Given the description of an element on the screen output the (x, y) to click on. 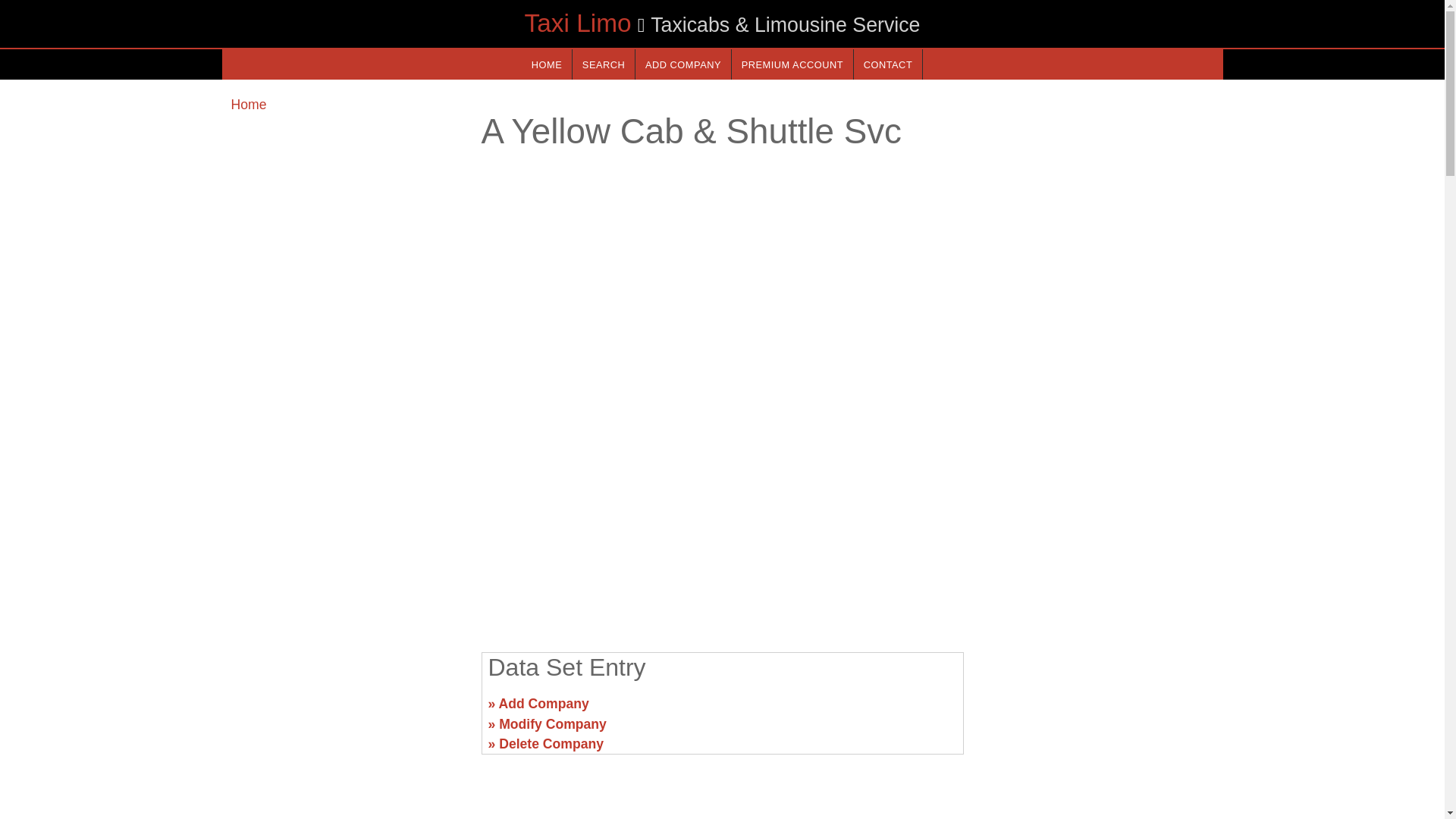
HOME (546, 64)
CONTACT (887, 64)
SEARCH (603, 64)
Advertisement (1096, 710)
ADD COMPANY (682, 64)
Taxi Limo (577, 22)
Home (248, 104)
Advertisement (721, 522)
Add a new company (682, 64)
Premium account (792, 64)
Advertisement (346, 710)
PREMIUM ACCOUNT (792, 64)
Search in this webseite. (603, 64)
